Given the description of an element on the screen output the (x, y) to click on. 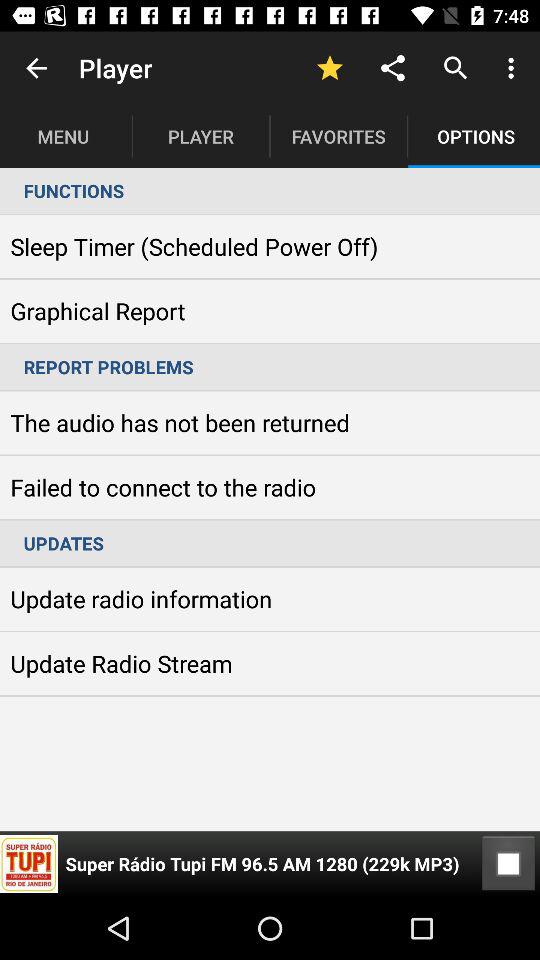
turn off item above options (513, 67)
